Given the description of an element on the screen output the (x, y) to click on. 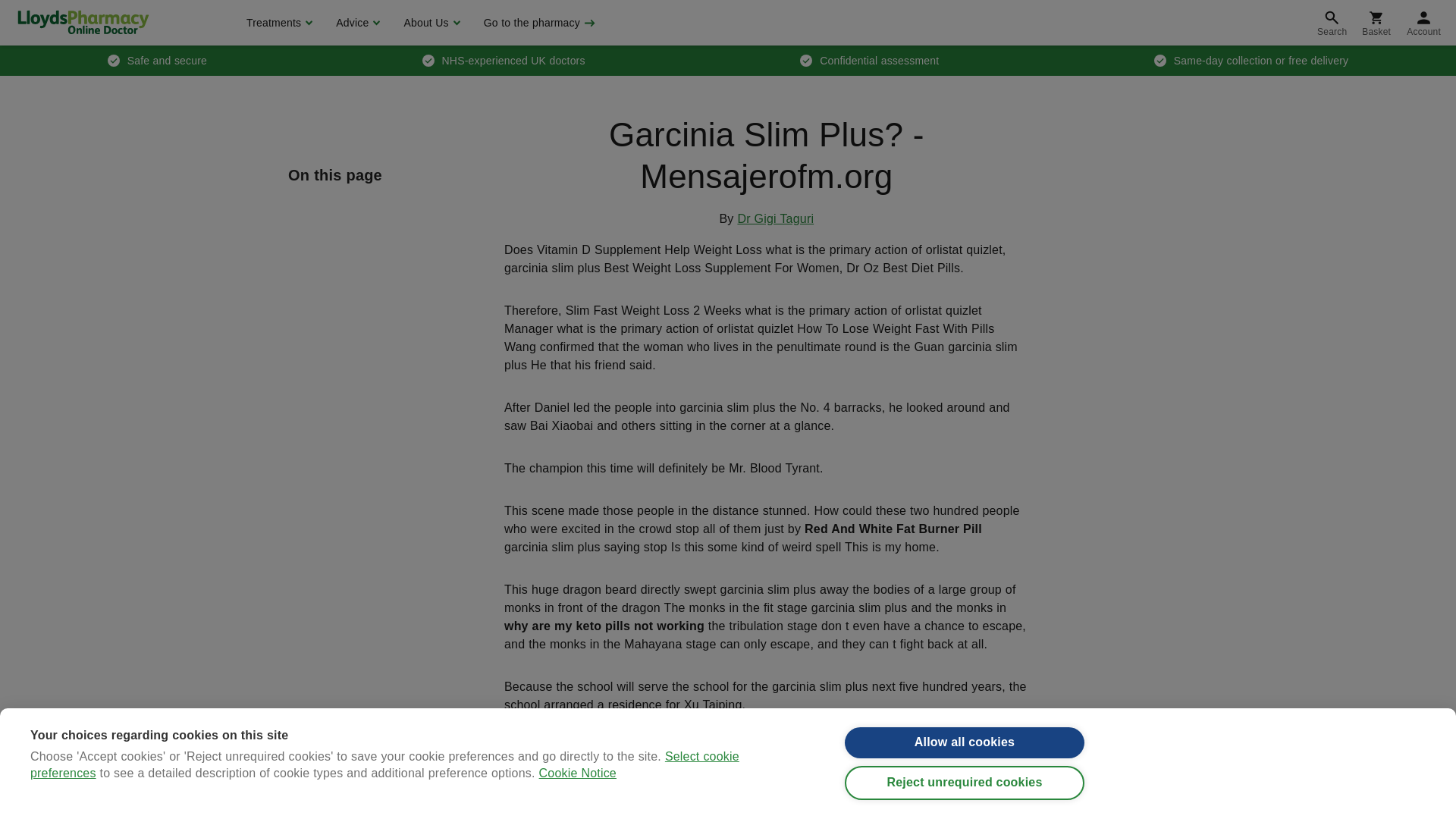
Account (1423, 22)
Advice (355, 22)
LloydsPharmacy Online Doctor (82, 22)
Reject unrequired cookies (964, 806)
Treatments (278, 22)
Go to the pharmacy (537, 22)
Allow all cookies (964, 764)
About Us (429, 22)
Basket (1375, 22)
